Given the description of an element on the screen output the (x, y) to click on. 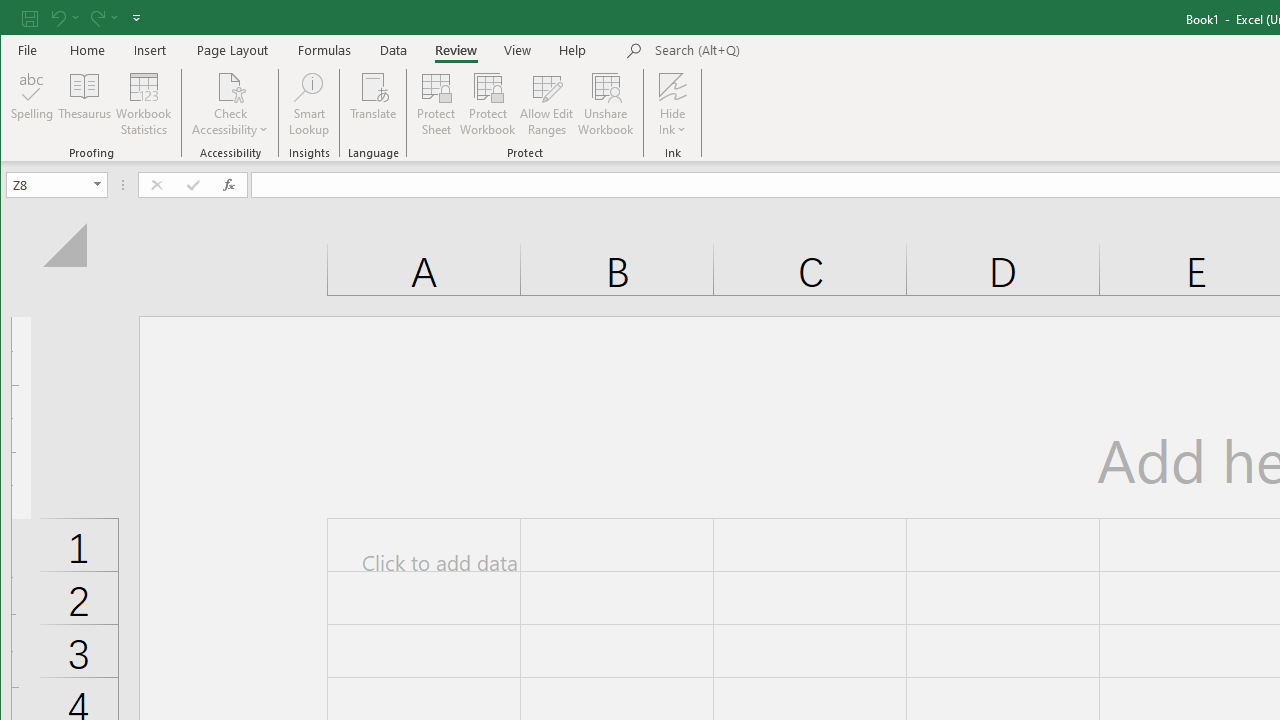
Smart Lookup (308, 104)
Microsoft search (794, 51)
Spelling... (32, 104)
Translate (373, 104)
Unshare Workbook (606, 104)
